Given the description of an element on the screen output the (x, y) to click on. 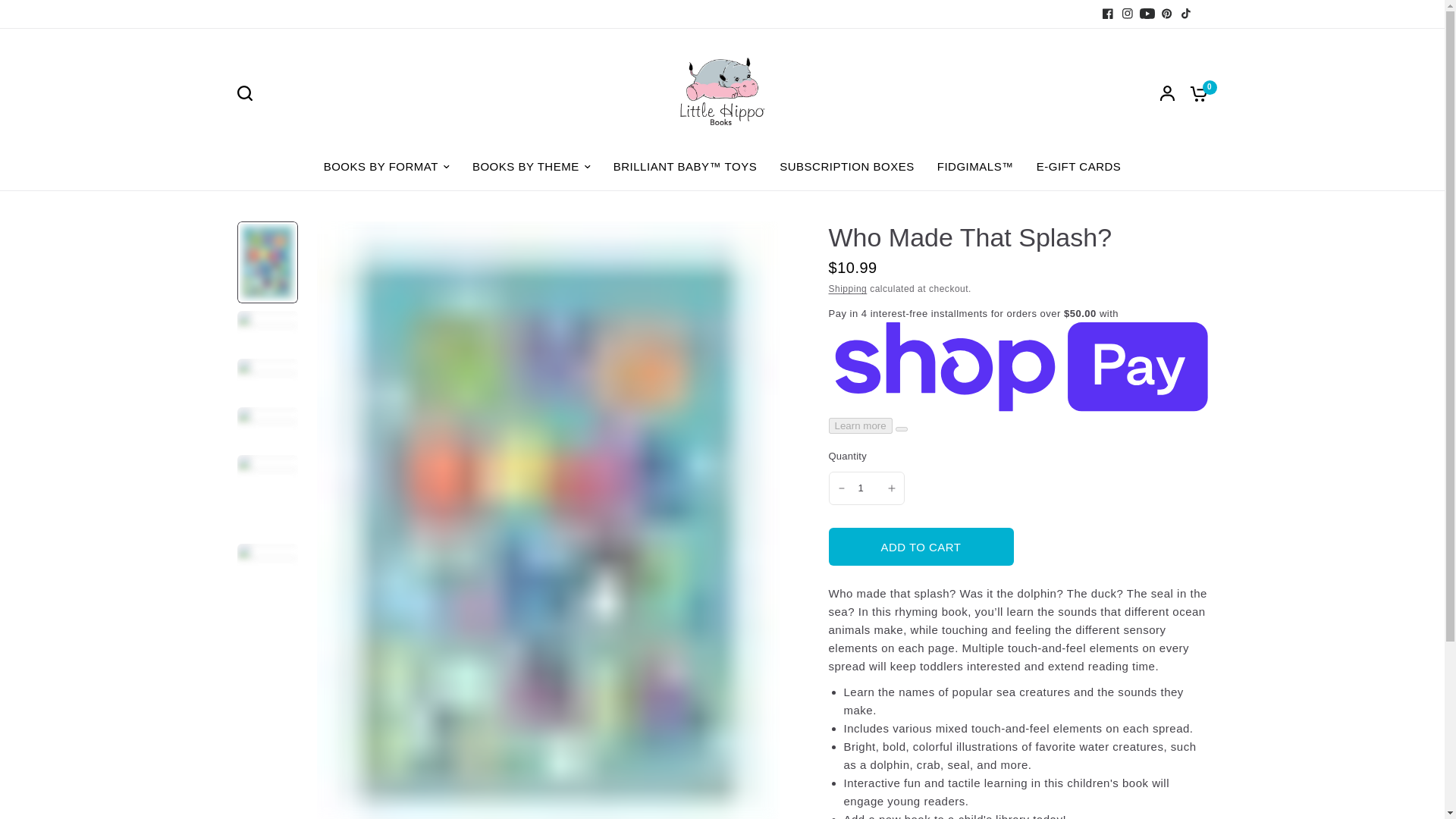
Pinterest (1166, 13)
BOOKS BY FORMAT (386, 167)
Facebook (1107, 13)
YouTube (1147, 13)
TikTok (1186, 13)
Instagram (1127, 13)
